Given the description of an element on the screen output the (x, y) to click on. 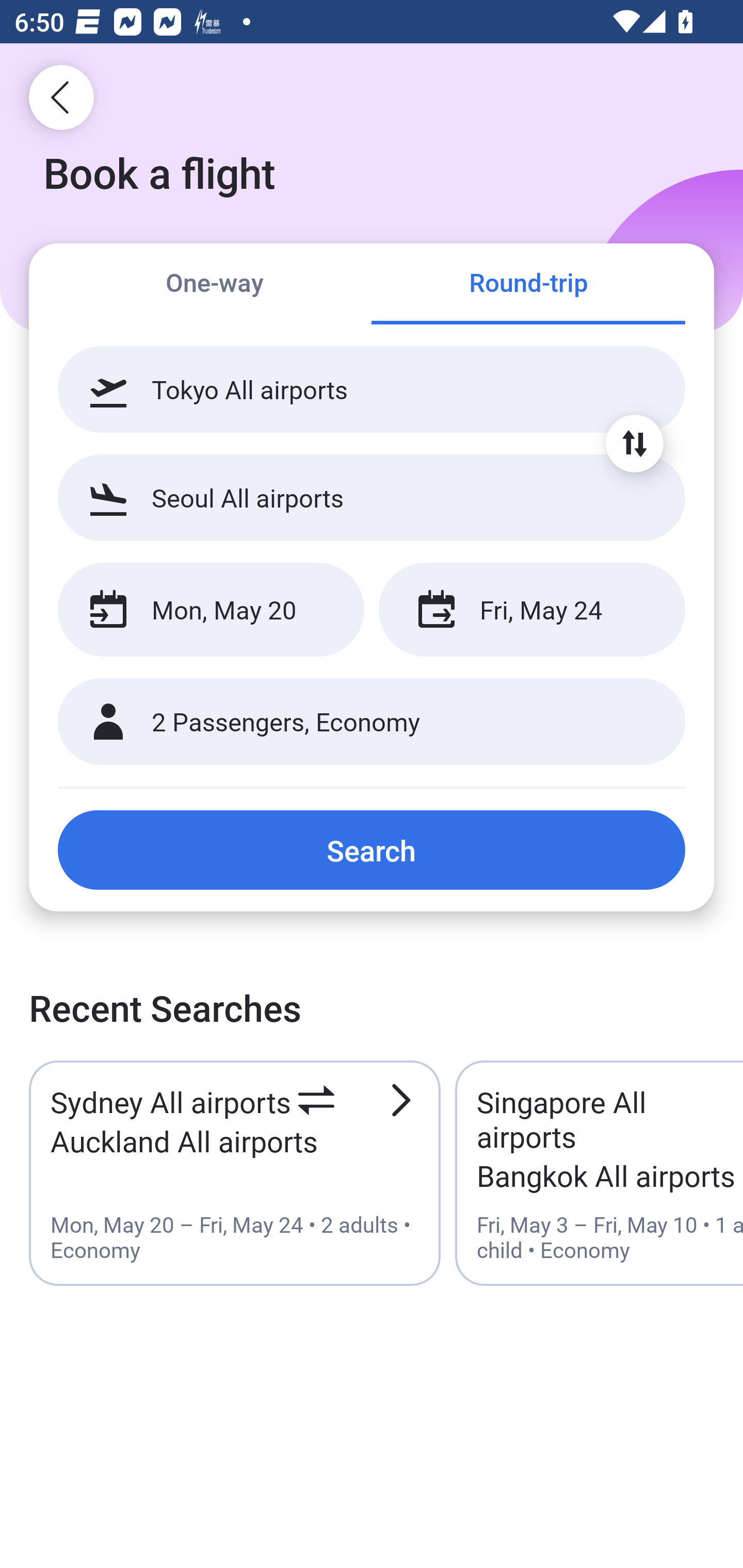
One-way (214, 284)
Tokyo All airports (371, 389)
Seoul All airports (371, 497)
Mon, May 20 (210, 609)
Fri, May 24 (531, 609)
2 Passengers, Economy (371, 721)
Search (371, 849)
